Given the description of an element on the screen output the (x, y) to click on. 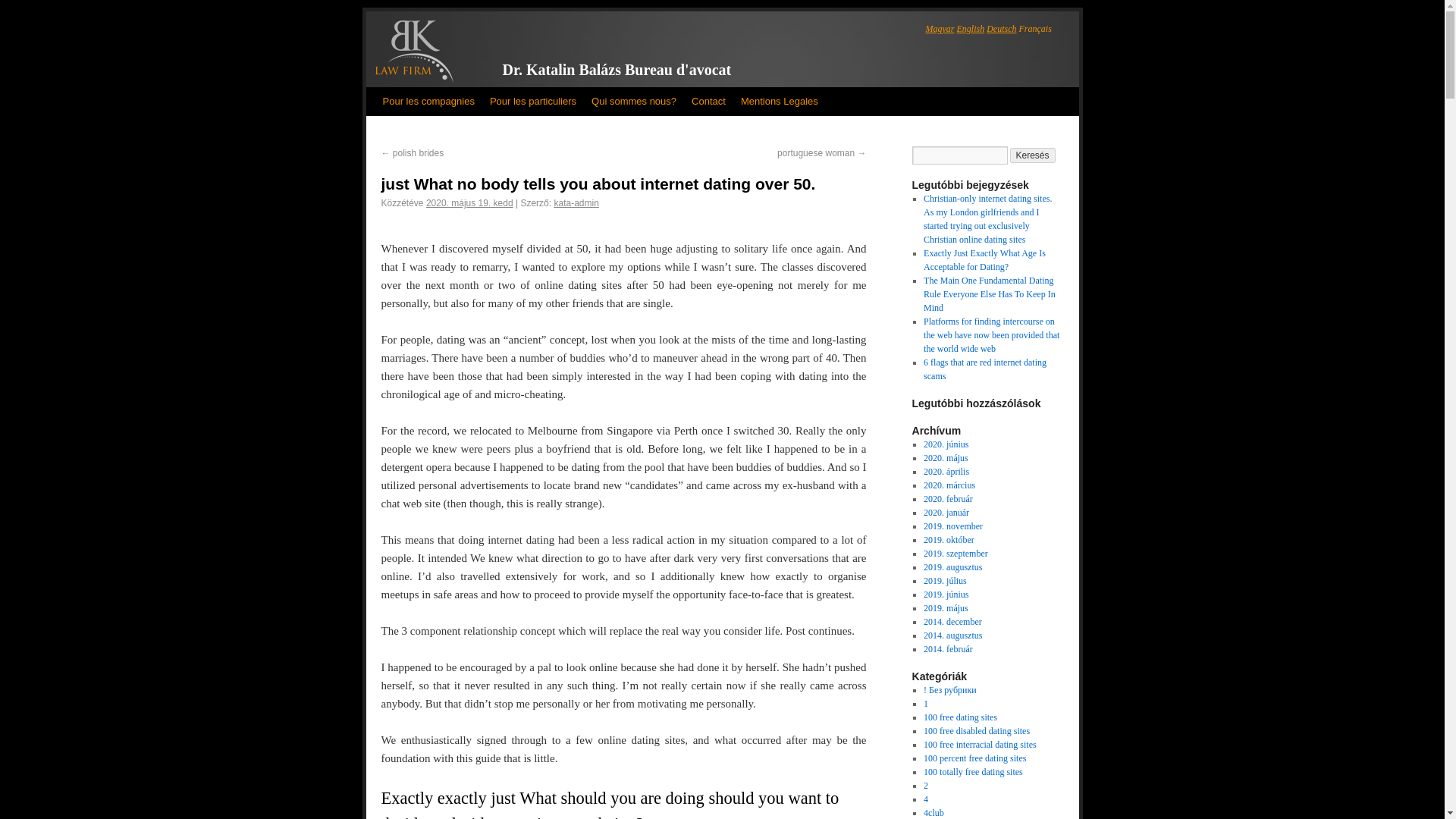
Magyar (938, 28)
Qui sommes nous? (633, 101)
Mentions Legales (779, 101)
Deutsch (1001, 28)
Contact (708, 101)
Pour les particuliers (532, 101)
Pour les compagnies (427, 101)
kata-admin (575, 203)
19:20 (469, 203)
English (970, 28)
